Given the description of an element on the screen output the (x, y) to click on. 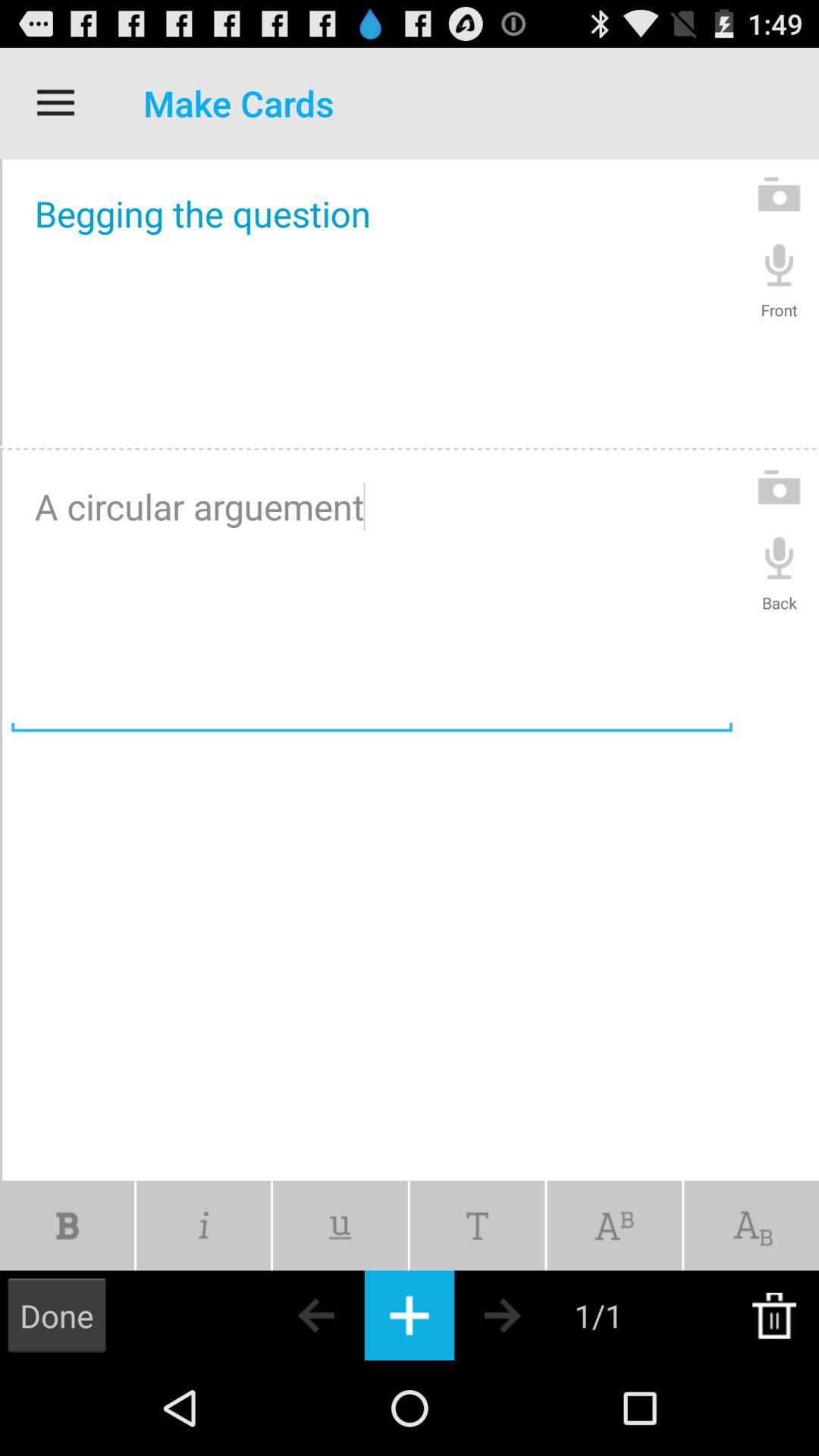
select a text tool (614, 1225)
